Given the description of an element on the screen output the (x, y) to click on. 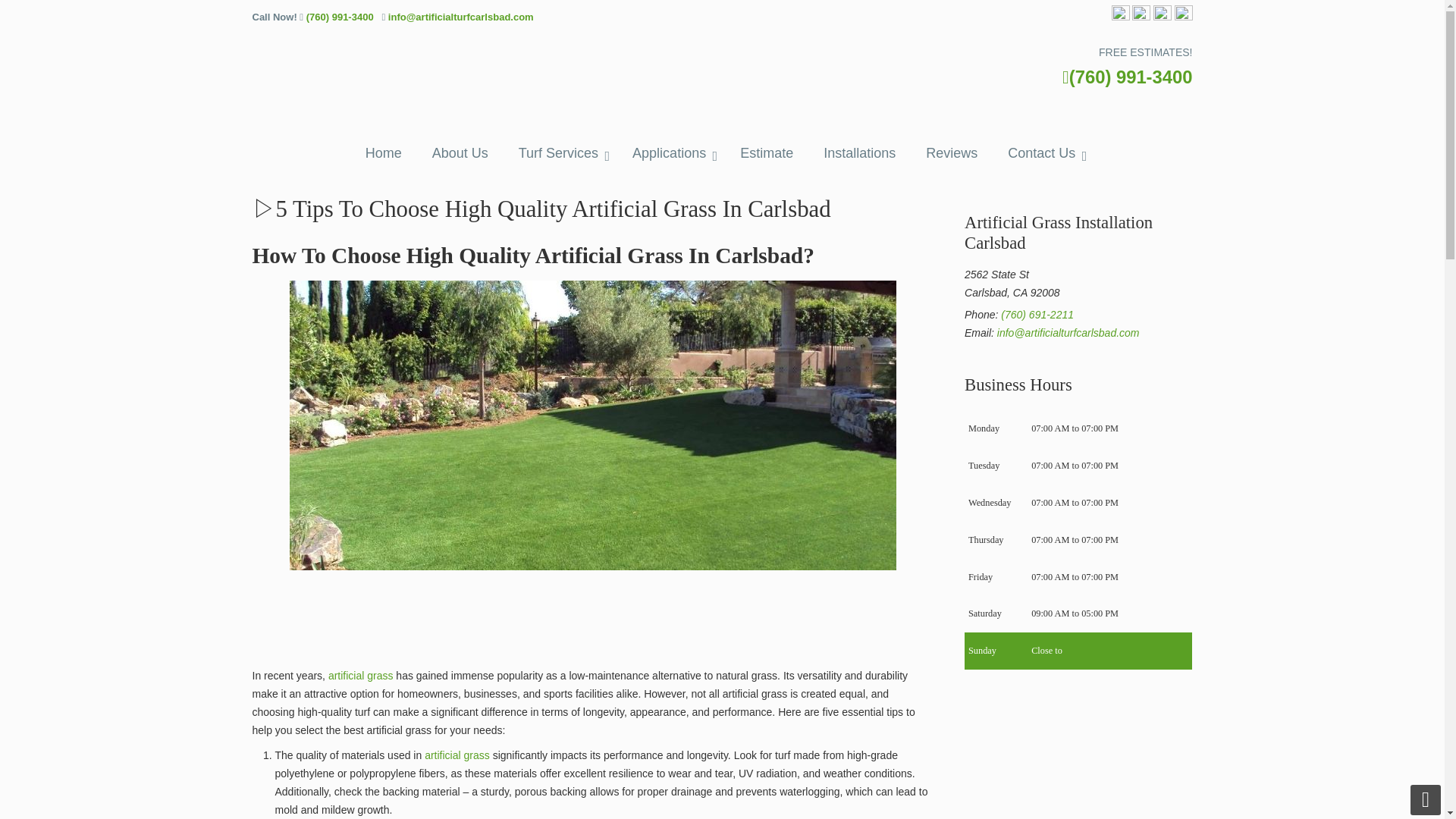
Yelp (1162, 16)
artificial grass (361, 675)
About Us (459, 153)
Contact Us (1043, 153)
Turf Services (560, 153)
YouTube (1182, 16)
Phone (1037, 314)
Installations (859, 153)
artificial grass (457, 755)
Estimate (766, 153)
Reviews (951, 153)
Facebook (1120, 16)
Home (383, 153)
Applications (671, 153)
